Given the description of an element on the screen output the (x, y) to click on. 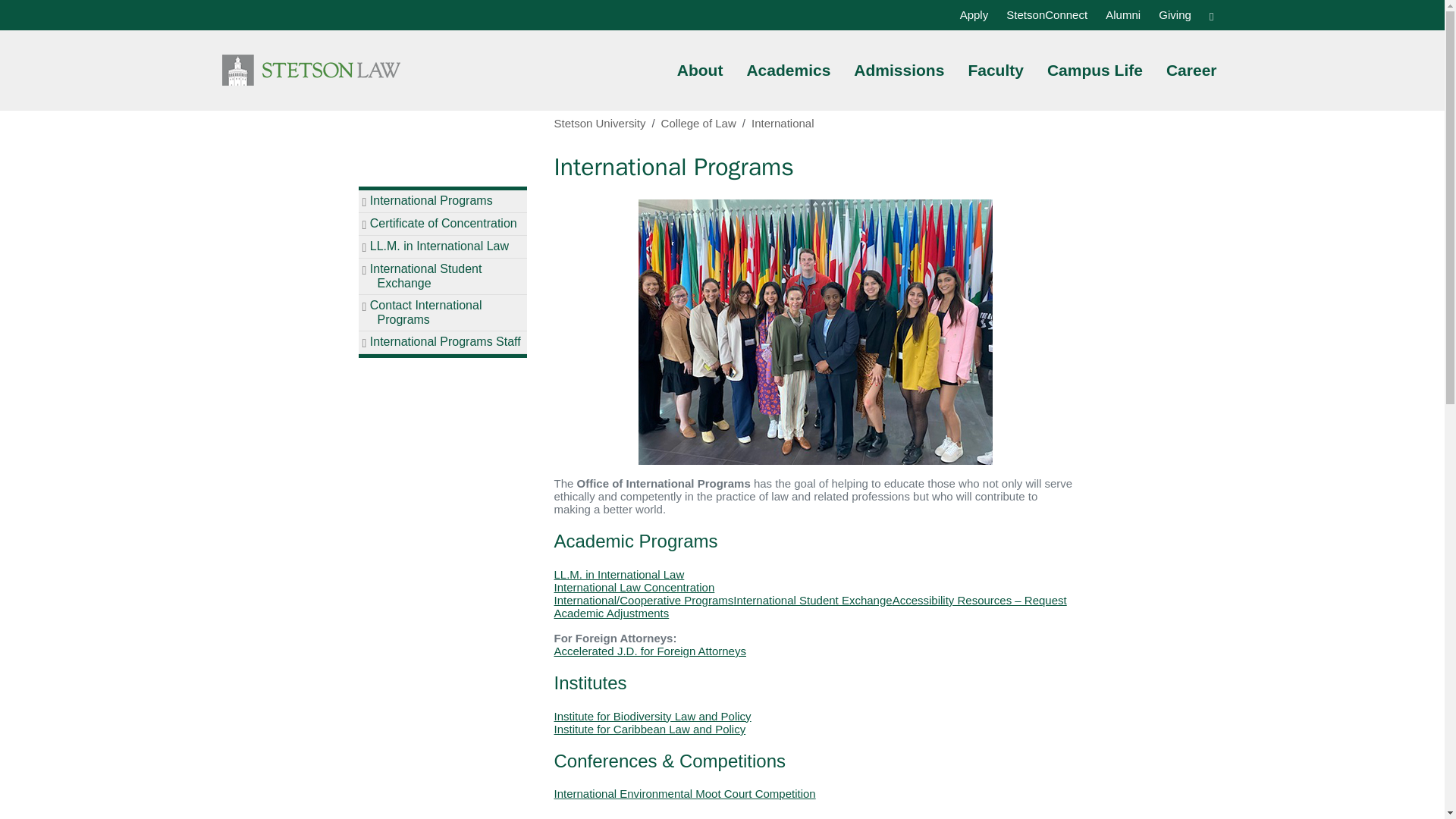
International Student Exchange - ll (812, 599)
Academics (787, 70)
About (700, 70)
Giving (1174, 14)
Faculty (994, 70)
Apply (973, 14)
Admissions (898, 70)
StetsonConnect (1046, 14)
Alumni (1122, 14)
